Given the description of an element on the screen output the (x, y) to click on. 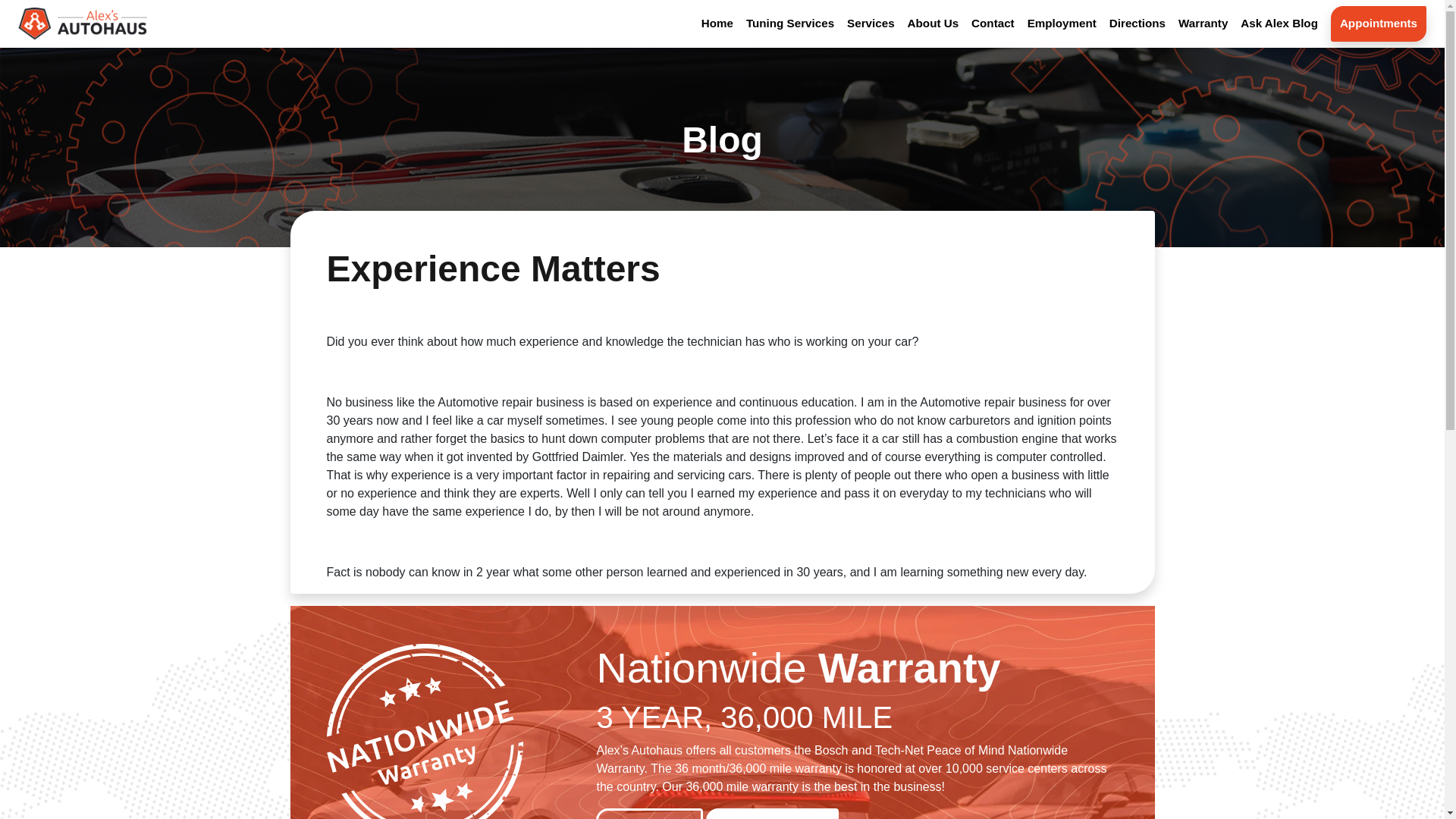
Ask Alex Blog (1278, 23)
Services (871, 23)
Appointments (1377, 23)
Warranty (1202, 23)
Home (717, 23)
About Us (933, 23)
Contact (992, 23)
Tuning Services (789, 23)
Directions (1137, 23)
Employment (1061, 23)
